Given the description of an element on the screen output the (x, y) to click on. 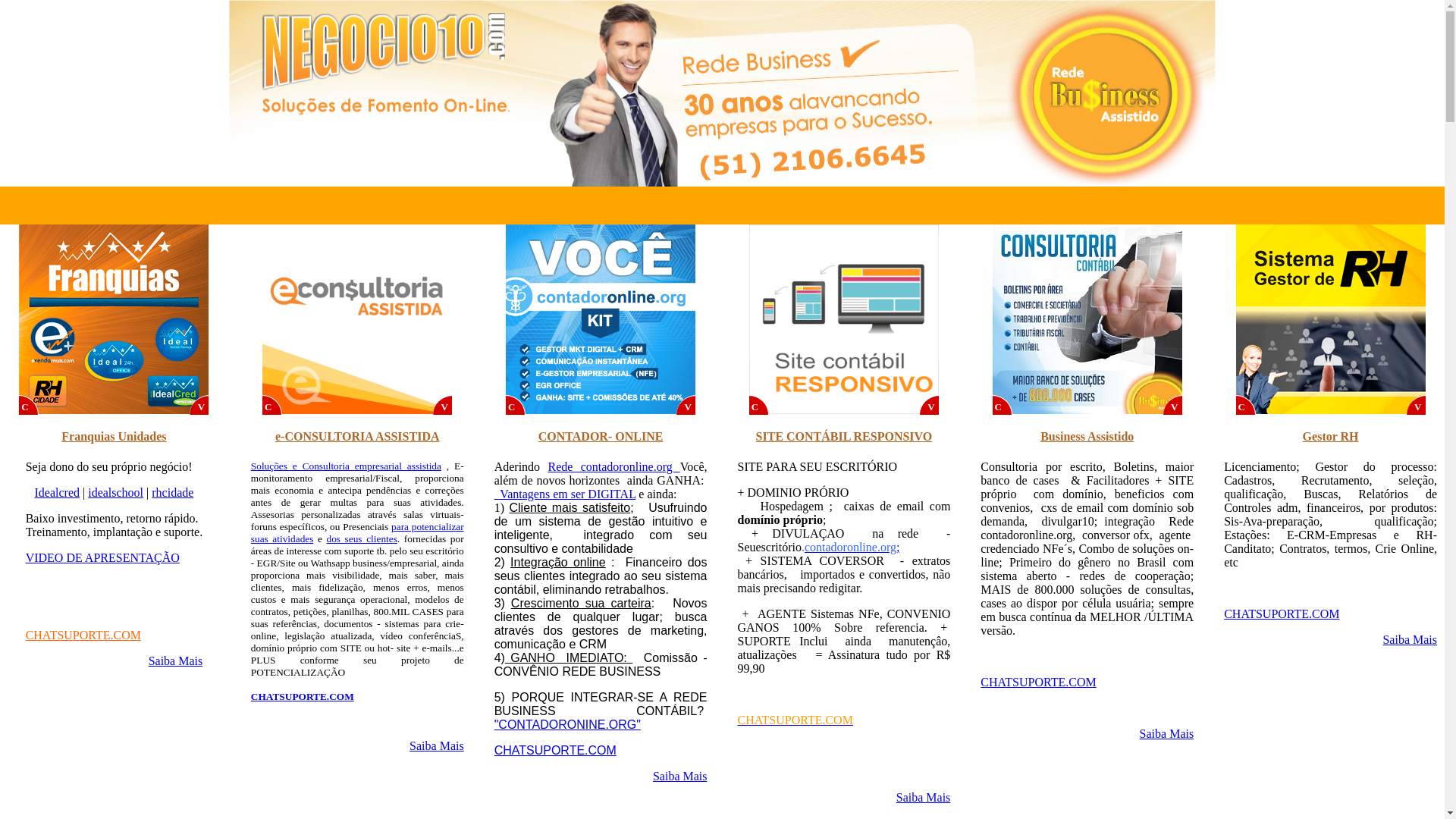
Business Assistido Element type: text (1086, 435)
Saiba Mais Element type: text (1409, 639)
C Element type: text (515, 404)
C Element type: text (272, 404)
CHATSUPORTE.COM Element type: text (1037, 681)
C Element type: text (28, 404)
Idealcred Element type: text (56, 492)
Franquias Unidades Element type: text (113, 435)
V Element type: text (929, 404)
Saiba Mais Element type: text (436, 745)
Saiba Mais Element type: text (175, 660)
V Element type: text (442, 404)
C Element type: text (1002, 404)
V Element type: text (199, 404)
e-CONSULTORIA ASSISTIDA Element type: text (357, 435)
Saiba Mais Element type: text (923, 796)
contadoronline.org; Element type: text (851, 546)
CHATSUPORTE.COM Element type: text (83, 634)
C Element type: text (1245, 404)
rhcidade Element type: text (172, 492)
Saiba Mais Element type: text (1166, 733)
idealschool Element type: text (115, 492)
Gestor RH Element type: text (1330, 435)
CHATSUPORTE.COM Element type: text (1281, 613)
CHATSUPORTE.COM Element type: text (302, 695)
CHATSUPORTE.COM Element type: text (794, 719)
Rede contadoronline.org Element type: text (613, 466)
CHATSUPORTE.COM Element type: text (555, 749)
Saiba Mais Element type: text (679, 775)
dos seus clientes Element type: text (361, 538)
CONTADOR- ONLINE Element type: text (600, 435)
para potencializar suas atividades Element type: text (357, 532)
C Element type: text (758, 404)
V Element type: text (686, 404)
V Element type: text (1416, 404)
V Element type: text (1173, 404)
  Vantagens em ser DIGITAL Element type: text (565, 493)
"CONTADORONINE.ORG" Element type: text (567, 724)
